Given the description of an element on the screen output the (x, y) to click on. 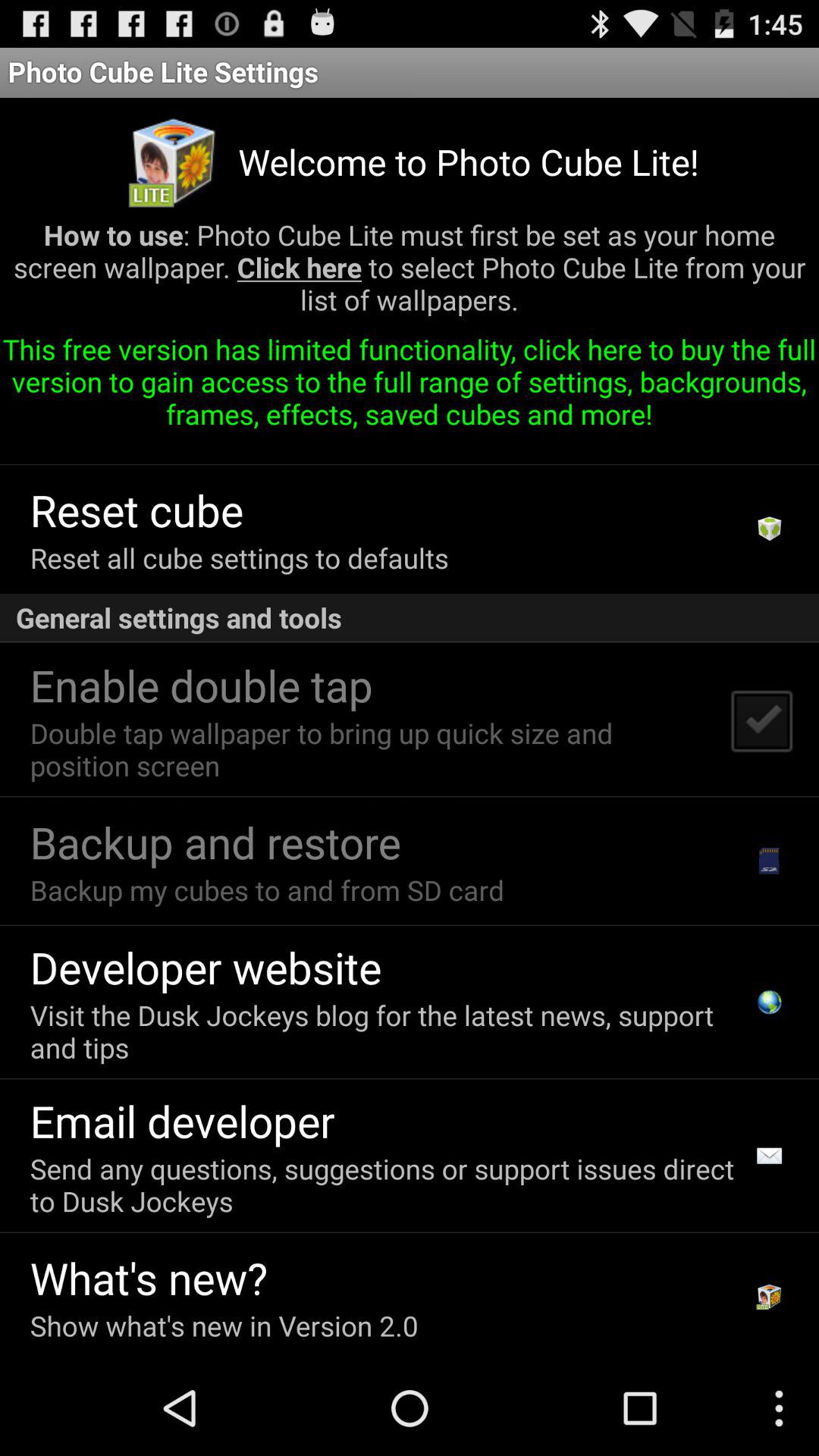
turn off icon below backup and restore item (267, 889)
